Given the description of an element on the screen output the (x, y) to click on. 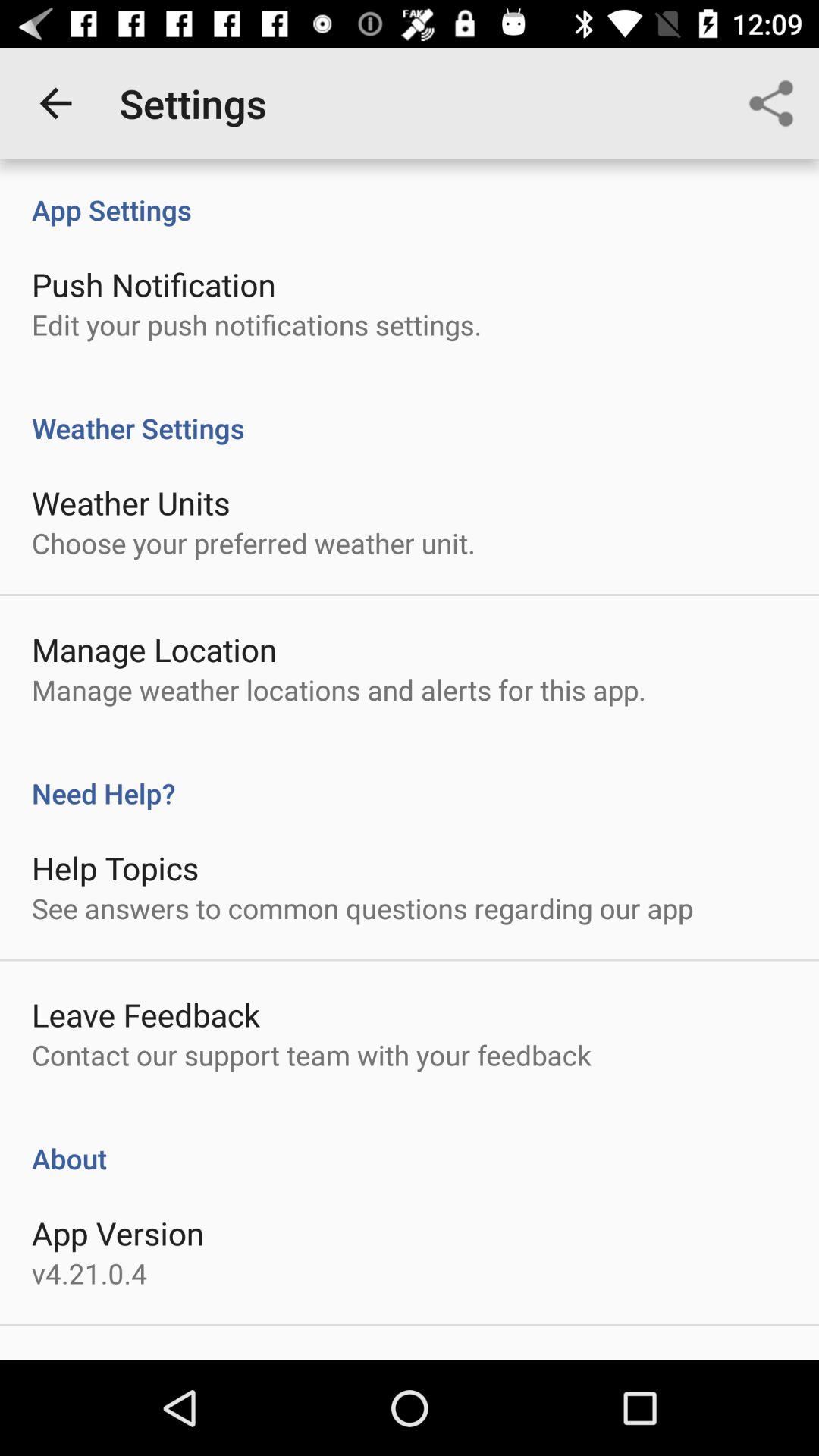
turn off icon below leave feedback icon (311, 1054)
